Given the description of an element on the screen output the (x, y) to click on. 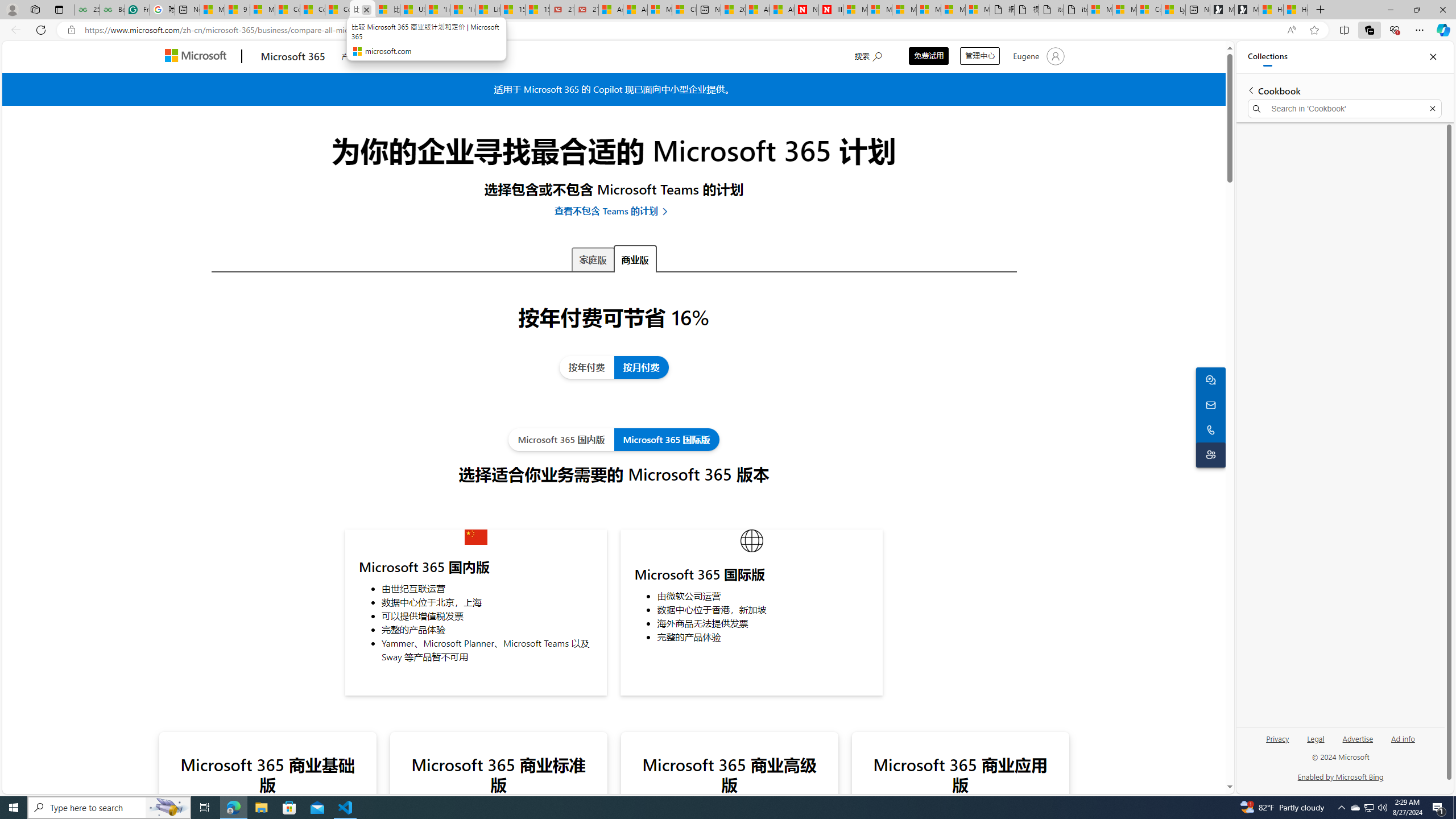
Search in 'Cookbook' (1345, 108)
25 Basic Linux Commands For Beginners - GeeksforGeeks (86, 9)
